Given the description of an element on the screen output the (x, y) to click on. 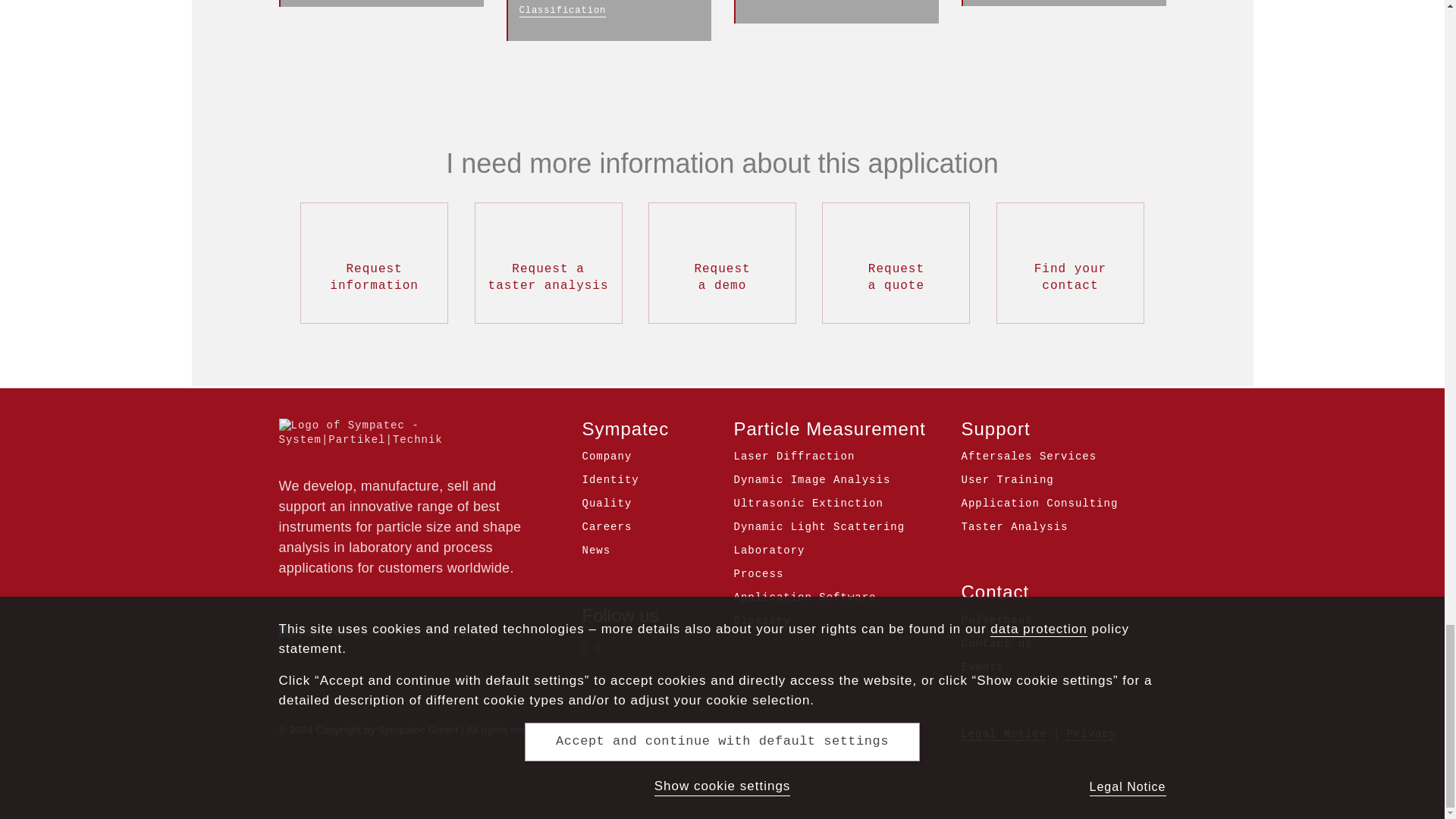
top innovator 2019 (384, 632)
